Given the description of an element on the screen output the (x, y) to click on. 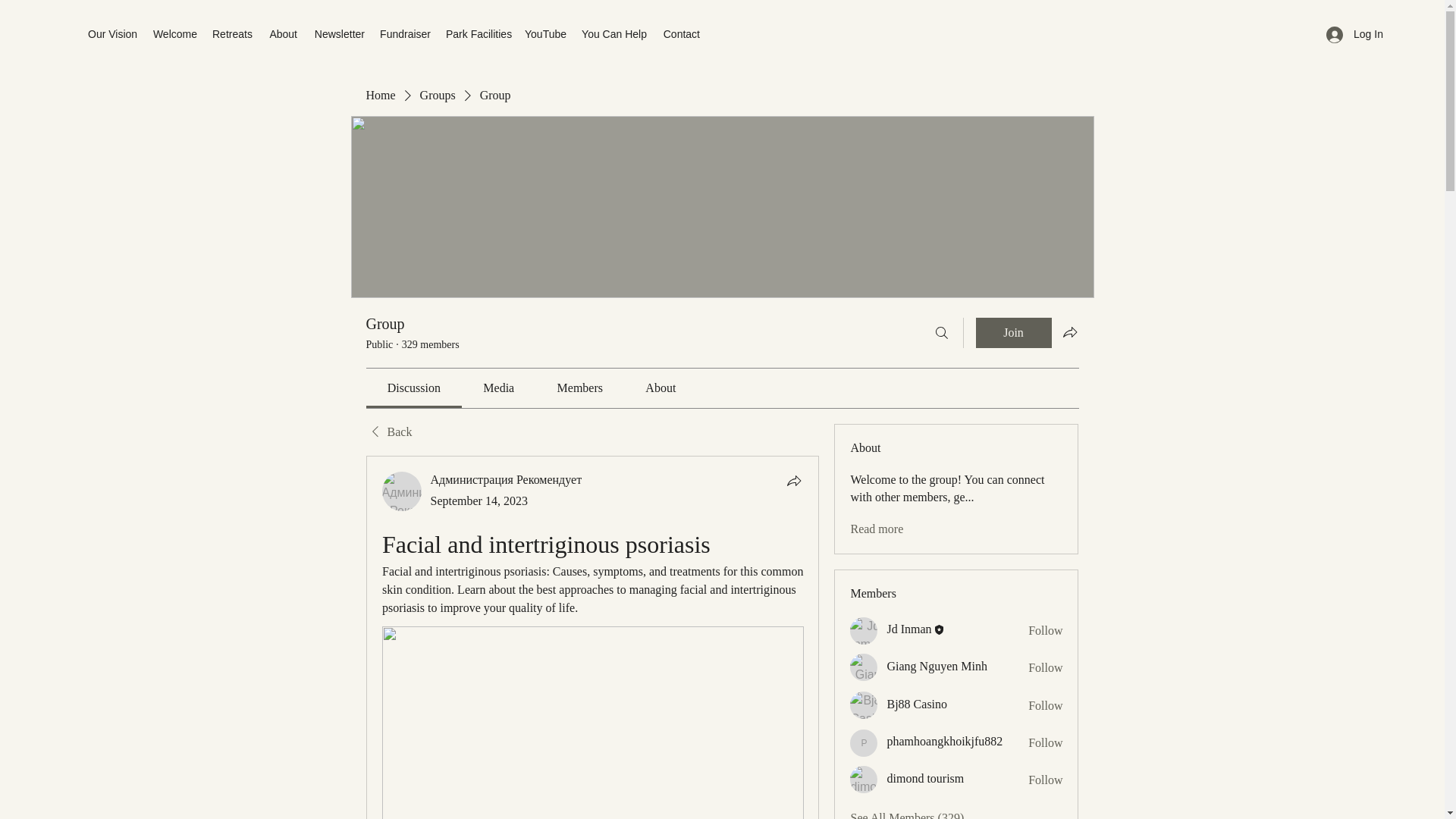
Read more (876, 528)
Jd Inman (908, 629)
Bj88 Casino (916, 703)
Our Vision (112, 33)
Fundraiser (405, 33)
phamhoangkhoikjfu882 (944, 741)
Jd Inman (863, 630)
Home (379, 95)
Newsletter (338, 33)
Contact (680, 33)
